Given the description of an element on the screen output the (x, y) to click on. 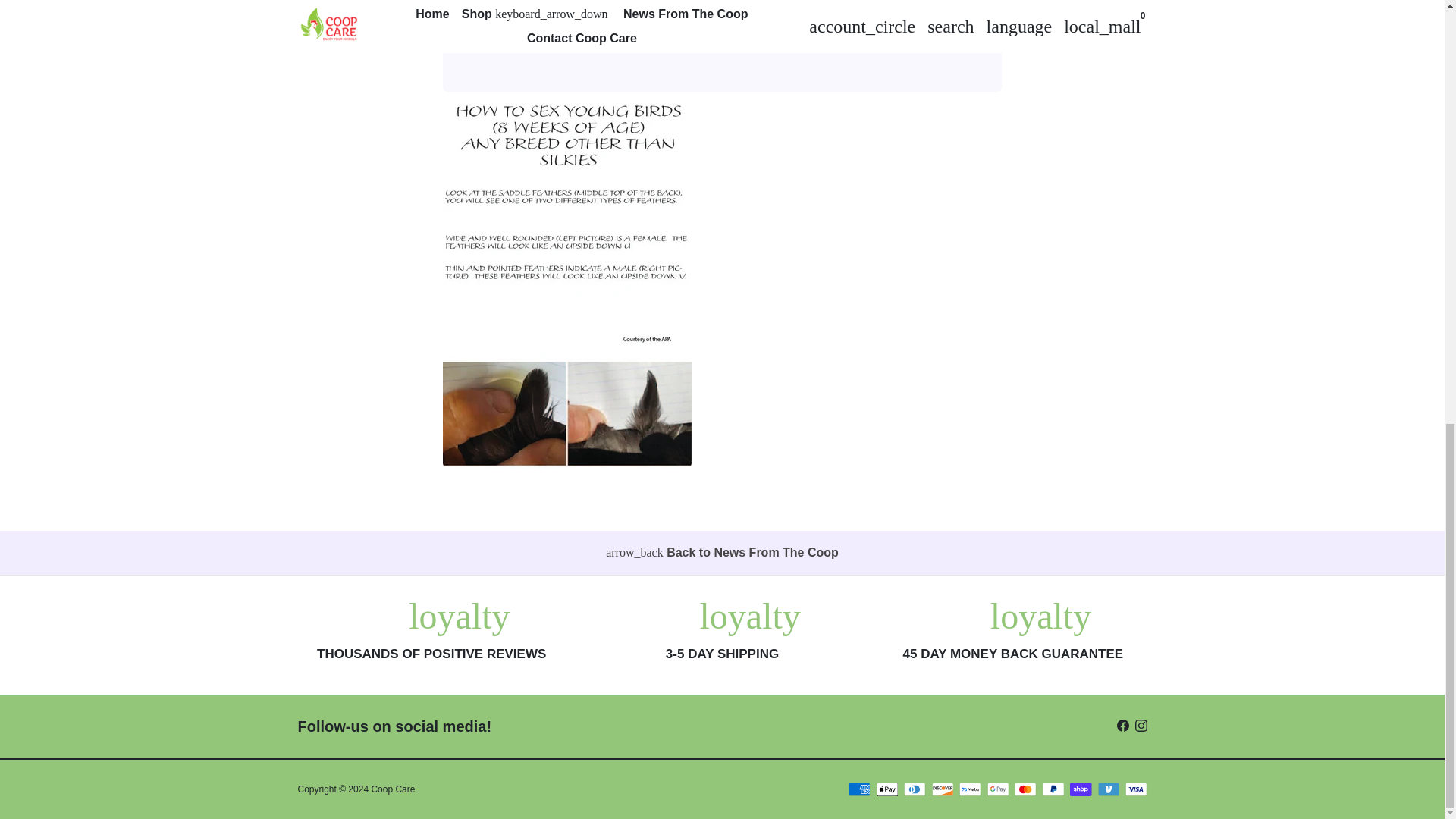
Diners Club (915, 789)
PayPal (1052, 789)
Google Pay (998, 789)
American Express (859, 789)
Visa (1136, 789)
Venmo (1108, 789)
Discover (941, 789)
Meta Pay (970, 789)
Shop Pay (1081, 789)
Mastercard (1025, 789)
Apple Pay (887, 789)
